Given the description of an element on the screen output the (x, y) to click on. 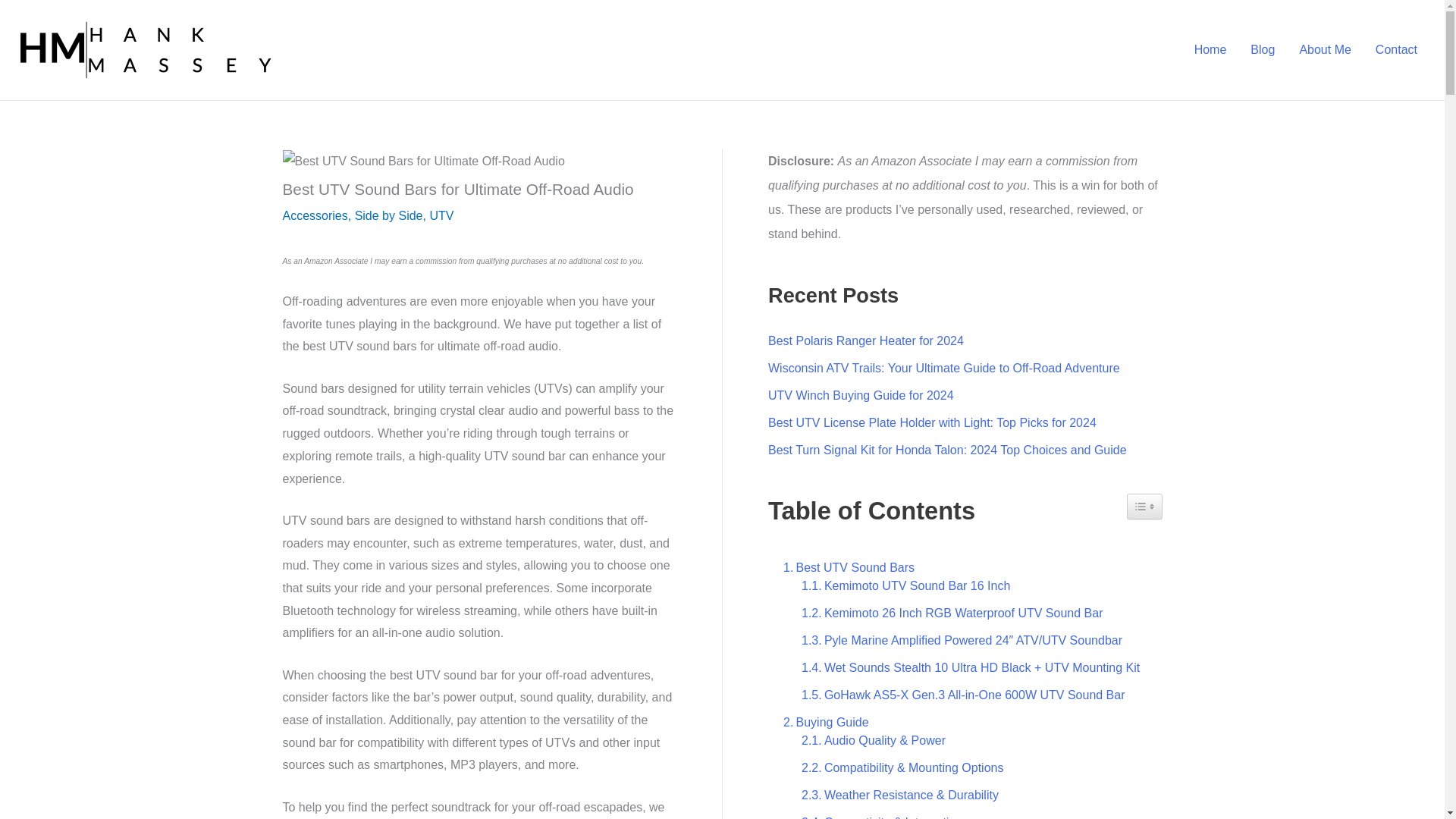
Home (1210, 49)
Best UTV Sound Bars for Ultimate Off-Road Audio (423, 160)
Kemimoto UTV Sound Bar 16 Inch (901, 586)
UTV (440, 215)
Blog (1263, 49)
Accessories (314, 215)
Contact (1395, 49)
Kemimoto 26 Inch RGB Waterproof UTV Sound Bar (947, 613)
Side by Side (389, 215)
Best UTV Sound Bars (845, 567)
About Me (1324, 49)
